Given the description of an element on the screen output the (x, y) to click on. 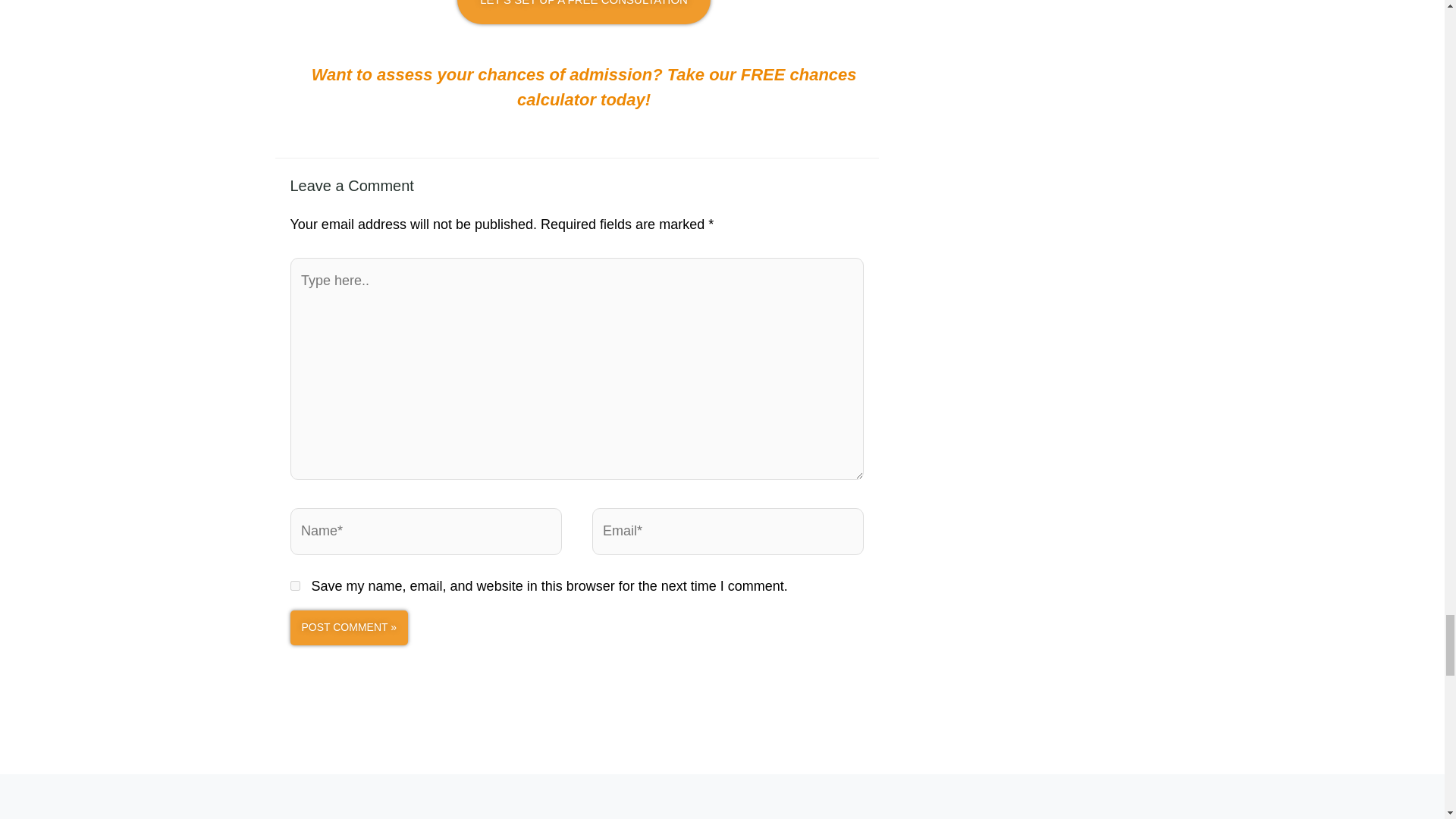
yes (294, 585)
